Given the description of an element on the screen output the (x, y) to click on. 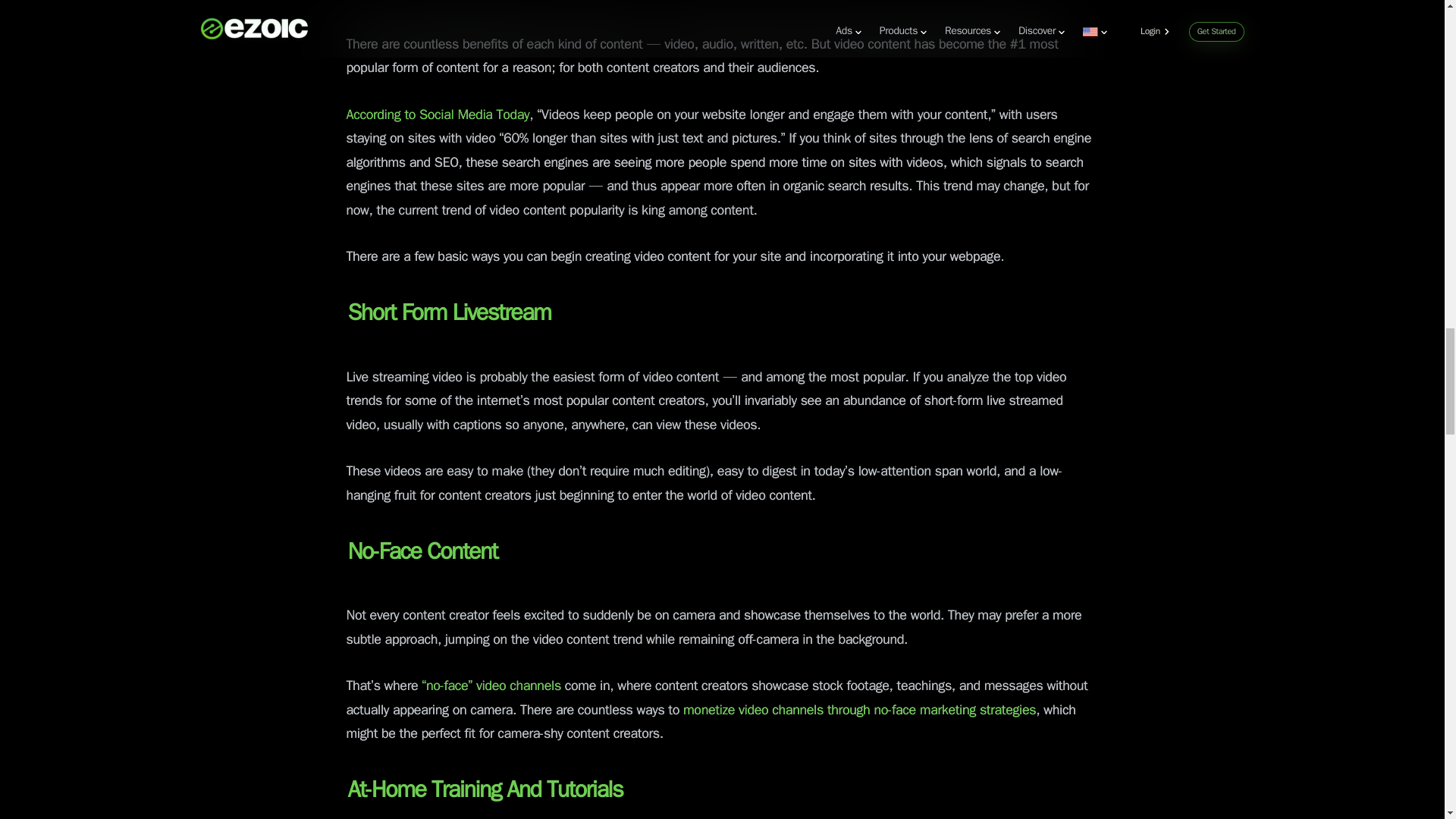
According to Social Media Today (437, 115)
monetize video channels through no-face marketing strategies (857, 710)
